Given the description of an element on the screen output the (x, y) to click on. 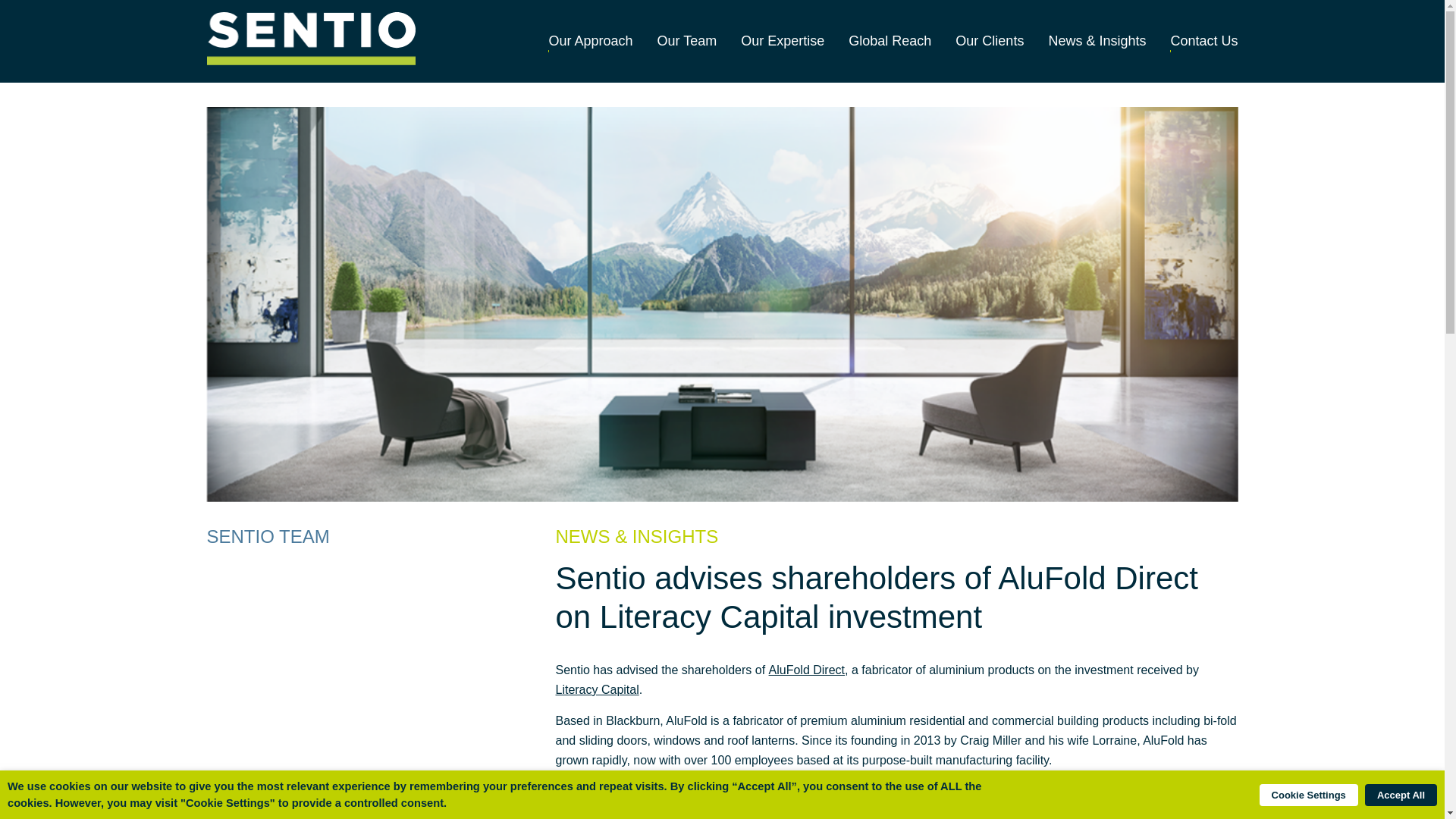
Literacy Capital (596, 690)
AluFold Direct (806, 670)
Global Reach (889, 41)
Go to homepage (310, 41)
Our Expertise (782, 41)
Our Approach (589, 41)
Cookie Settings (1308, 794)
Contact Us (1203, 41)
Our Clients (989, 41)
Accept All (1401, 794)
Our Team (687, 41)
